Given the description of an element on the screen output the (x, y) to click on. 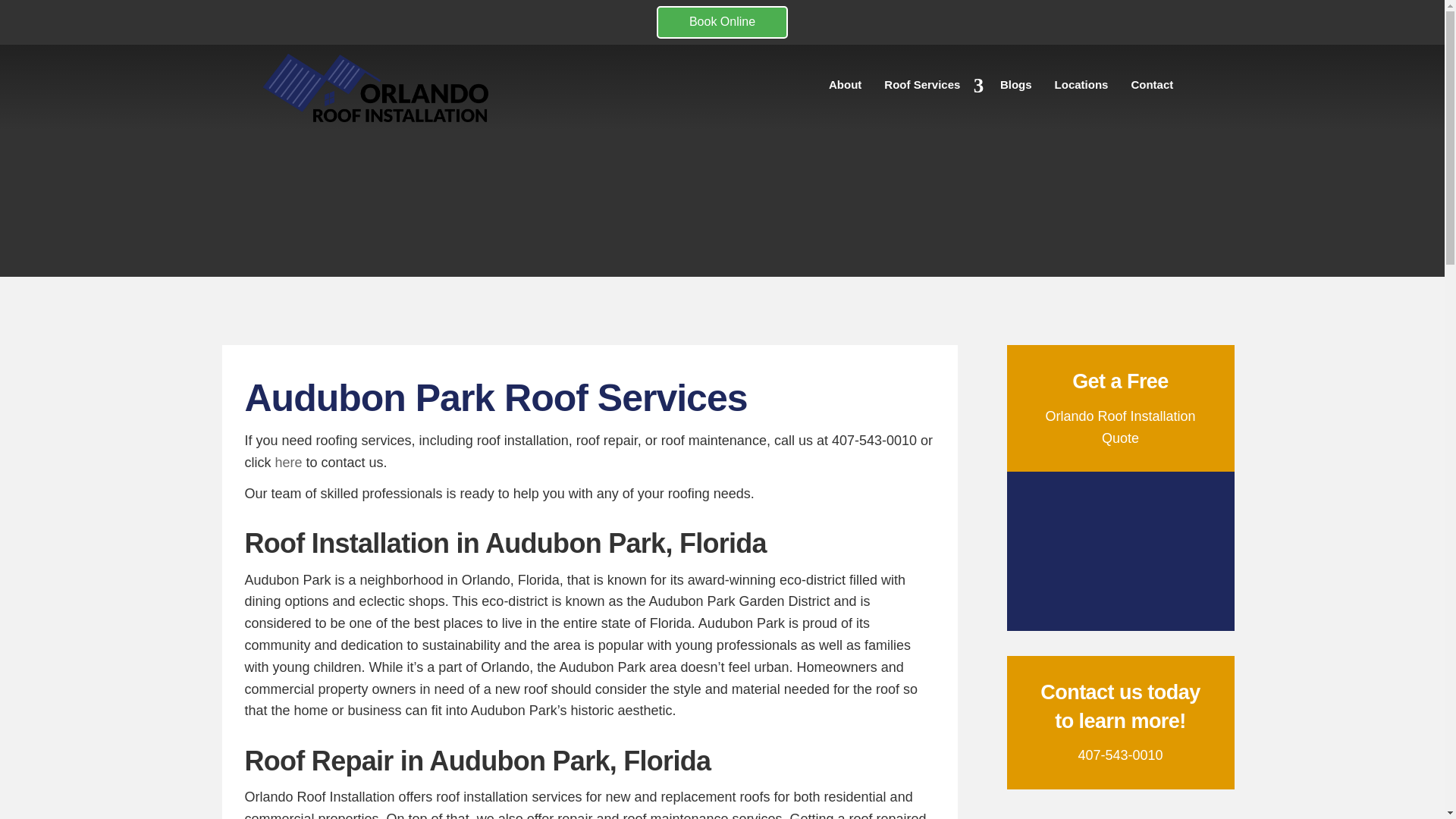
Contact (1152, 88)
Blogs (1015, 88)
here (288, 462)
Form 0 (1120, 551)
Book Online (721, 21)
About (844, 88)
Roof Services (930, 88)
Locations (1081, 88)
